Given the description of an element on the screen output the (x, y) to click on. 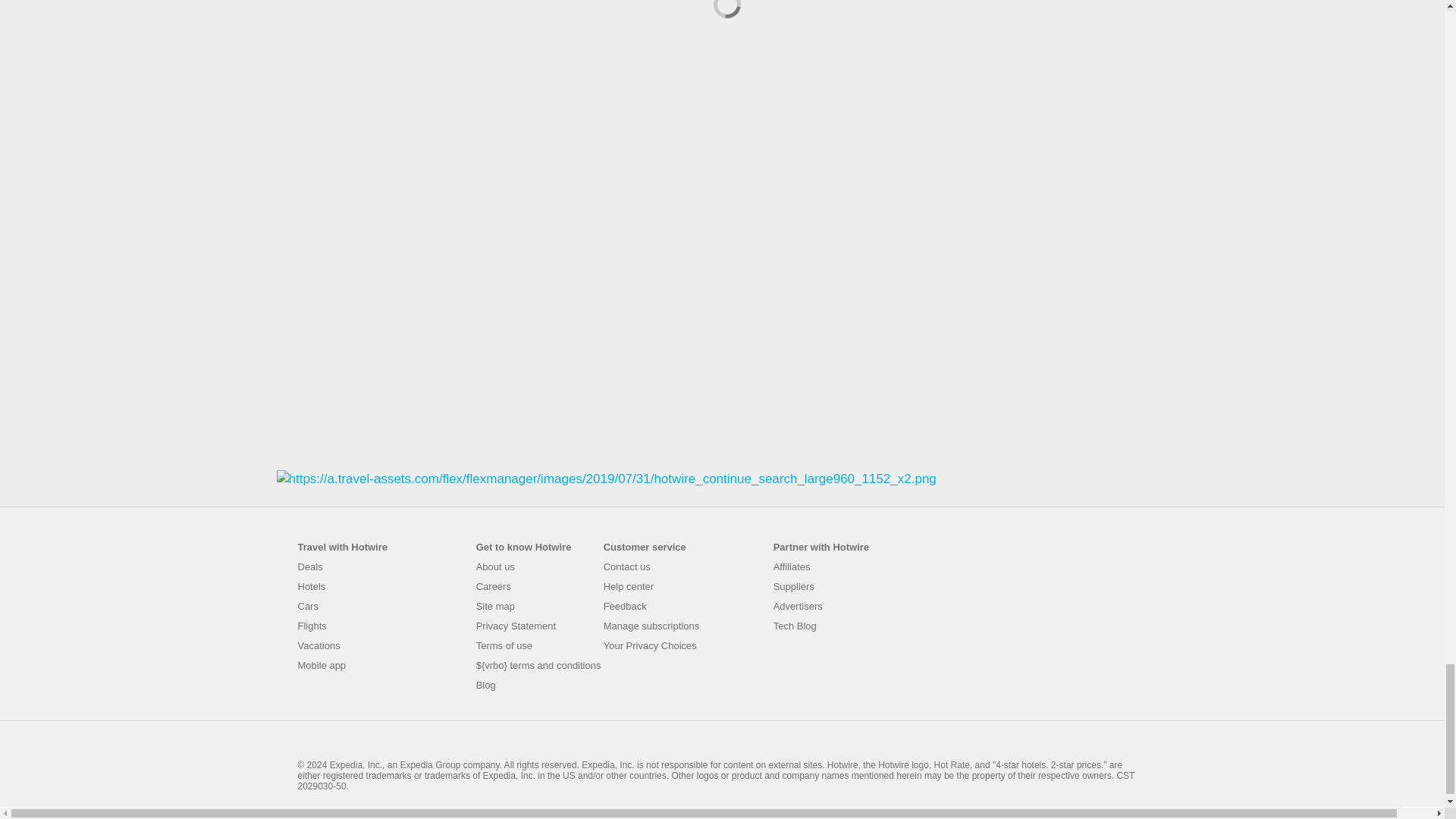
Loading... (721, 6)
